Given the description of an element on the screen output the (x, y) to click on. 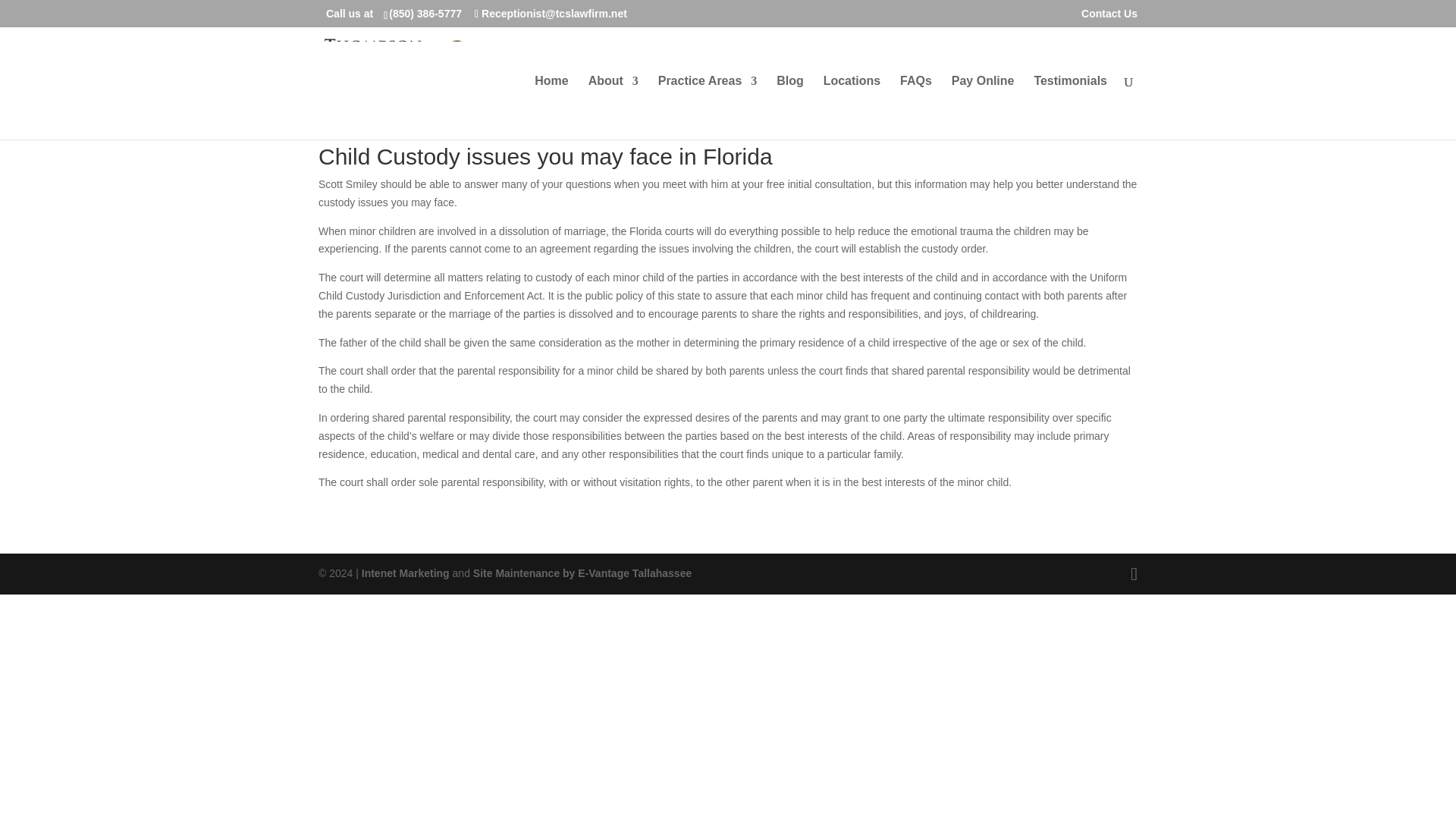
Locations (852, 107)
Practice Areas (707, 107)
Testimonials (1069, 107)
Pay Online (983, 107)
Contact Us (1109, 16)
Site Maintenance by E-Vantage Tallahassee (582, 573)
Intenet Marketing (405, 573)
